Given the description of an element on the screen output the (x, y) to click on. 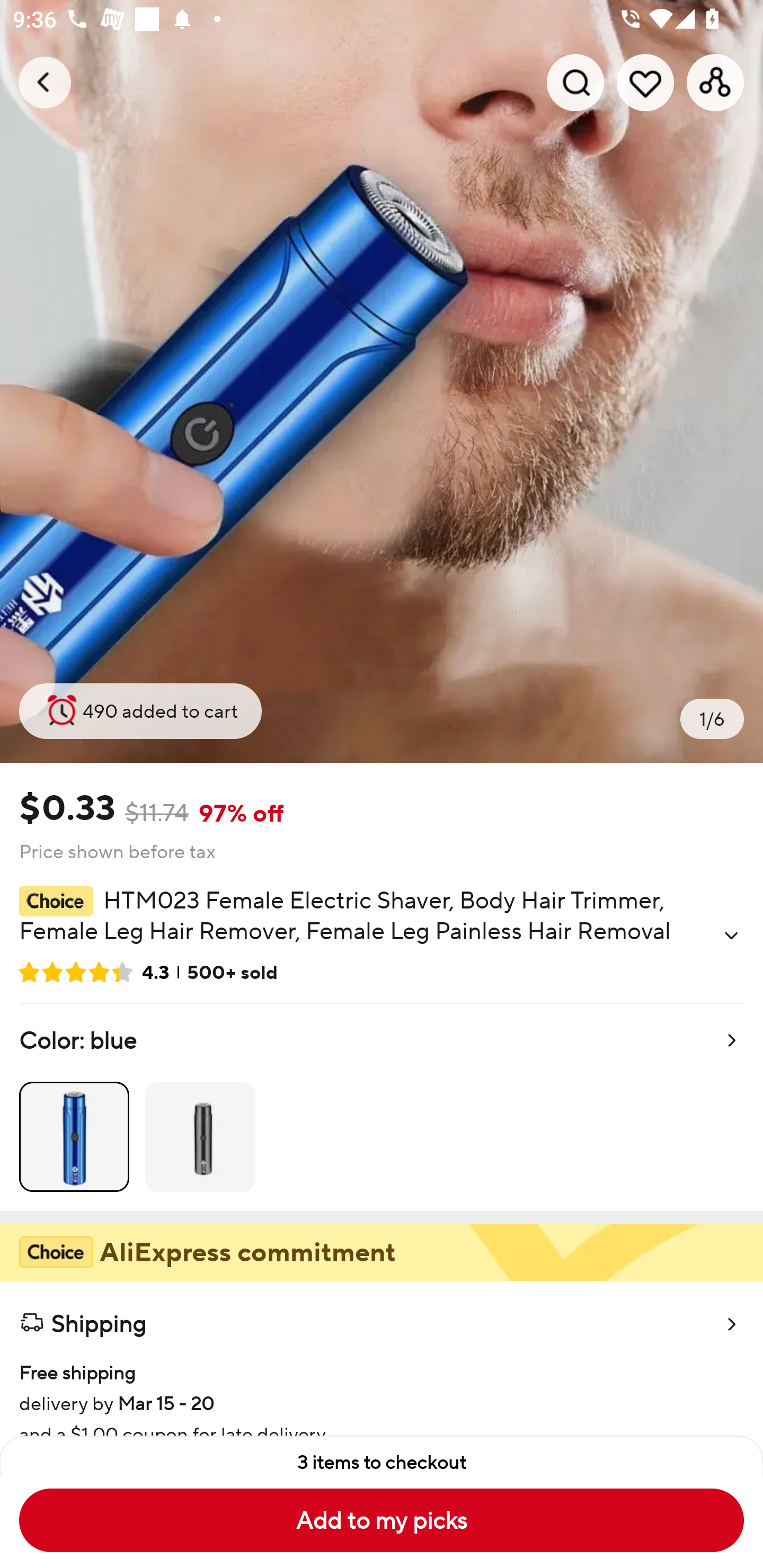
Navigate up (44, 82)
 (730, 935)
Color: blue  (381, 1106)
Add to my picks (381, 1520)
